Given the description of an element on the screen output the (x, y) to click on. 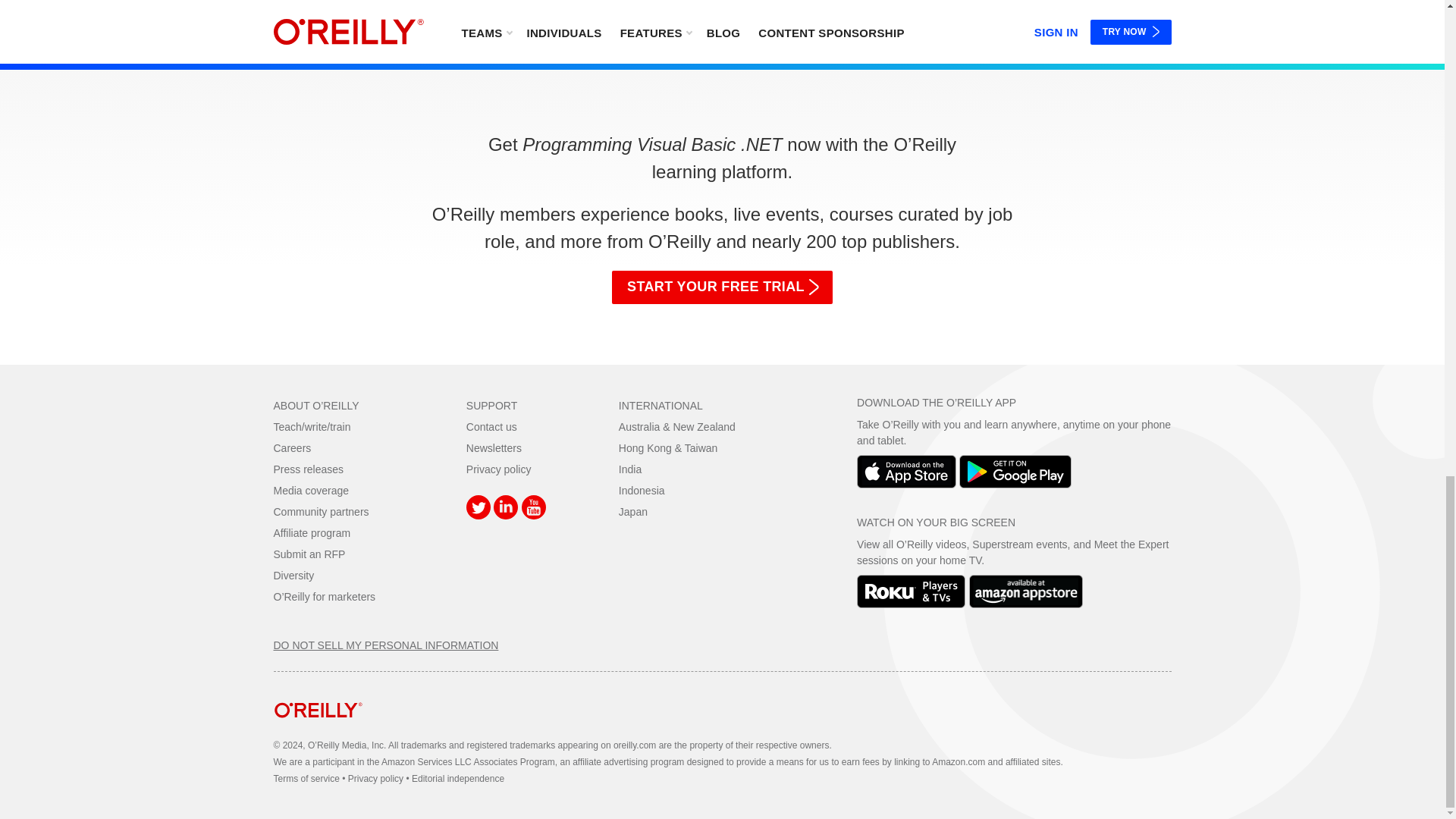
Media coverage (311, 490)
Diversity (293, 575)
START YOUR FREE TRIAL (721, 287)
Careers (292, 448)
SUPPORT (490, 405)
Community partners (320, 511)
Submit an RFP (309, 553)
Press releases (308, 469)
Affiliate program (311, 532)
home page (317, 728)
